Given the description of an element on the screen output the (x, y) to click on. 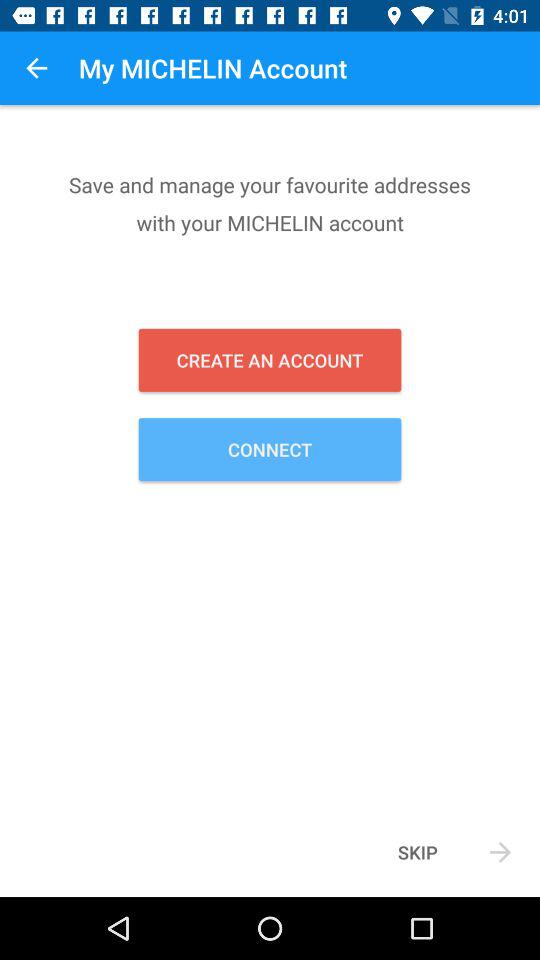
click on the button which is above the connect button (269, 360)
